Given the description of an element on the screen output the (x, y) to click on. 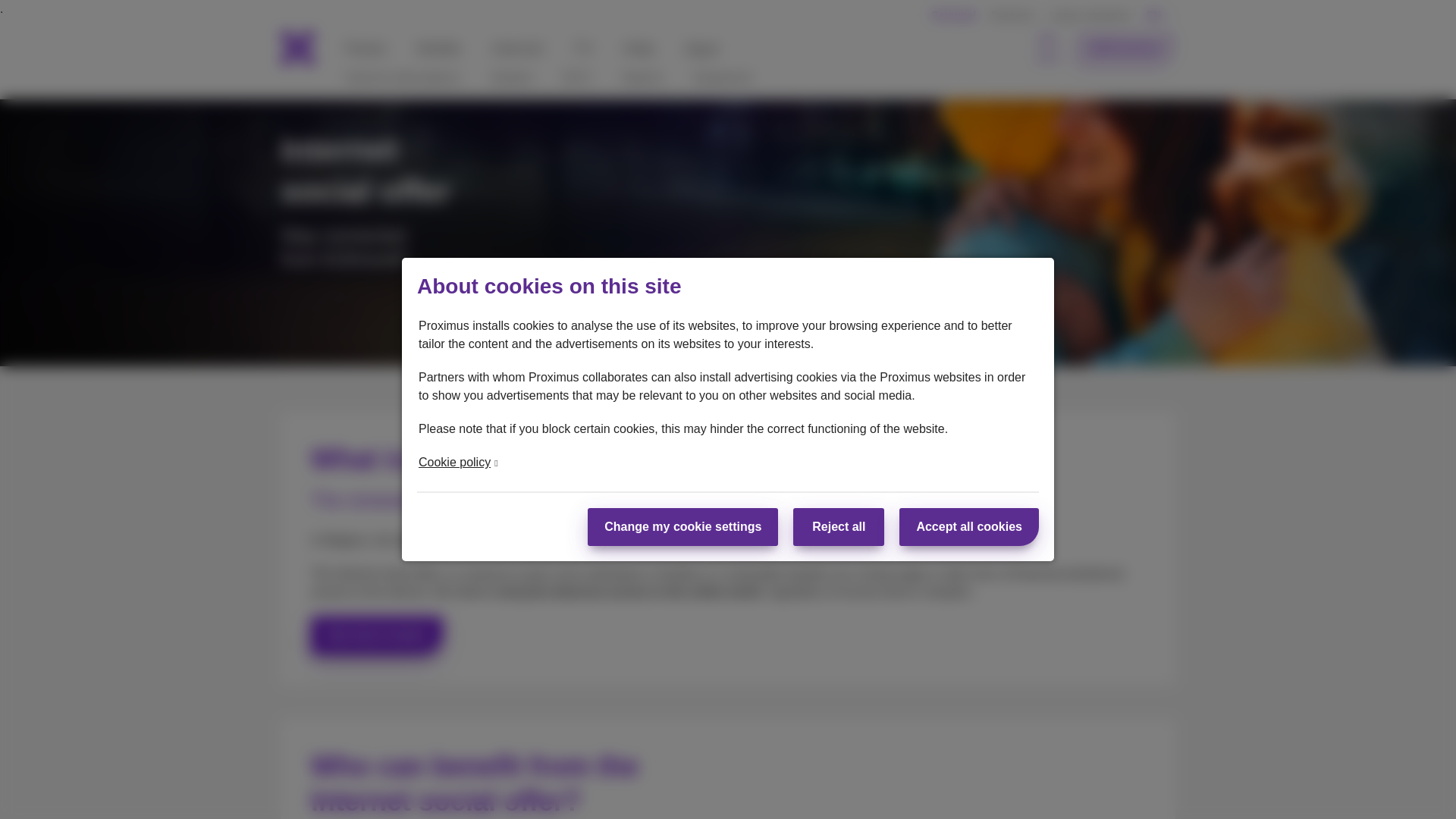
Internet (517, 47)
Help (638, 47)
Options (642, 77)
Reject all (838, 526)
MyProximus (1124, 48)
Wi-Fi (576, 77)
Packs (365, 47)
Business (1012, 15)
Proximus Homepage (297, 48)
EN (1160, 15)
